Given the description of an element on the screen output the (x, y) to click on. 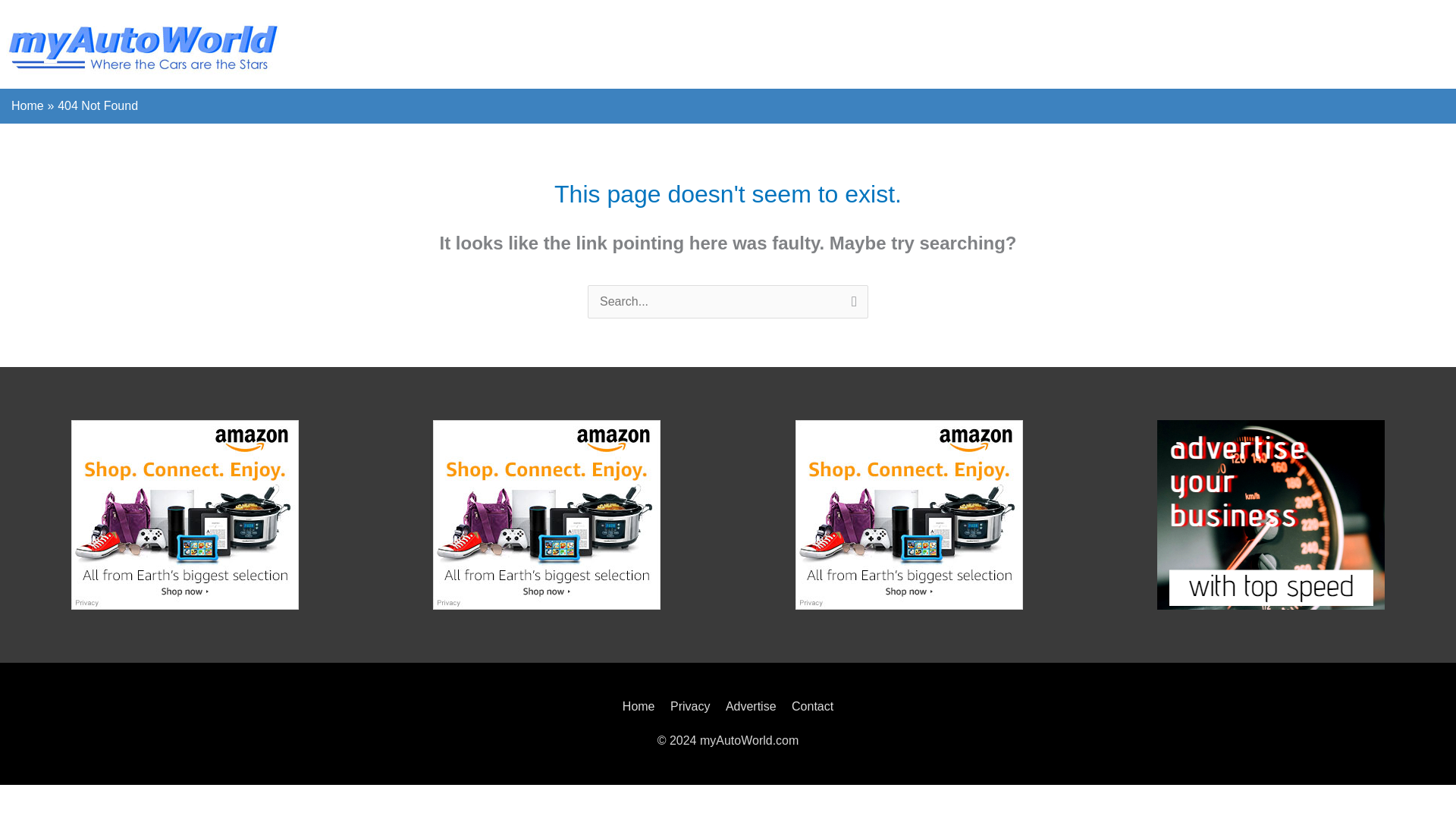
Home (642, 706)
Advertise (751, 706)
Contact (809, 706)
Home (27, 105)
Privacy (689, 706)
